Given the description of an element on the screen output the (x, y) to click on. 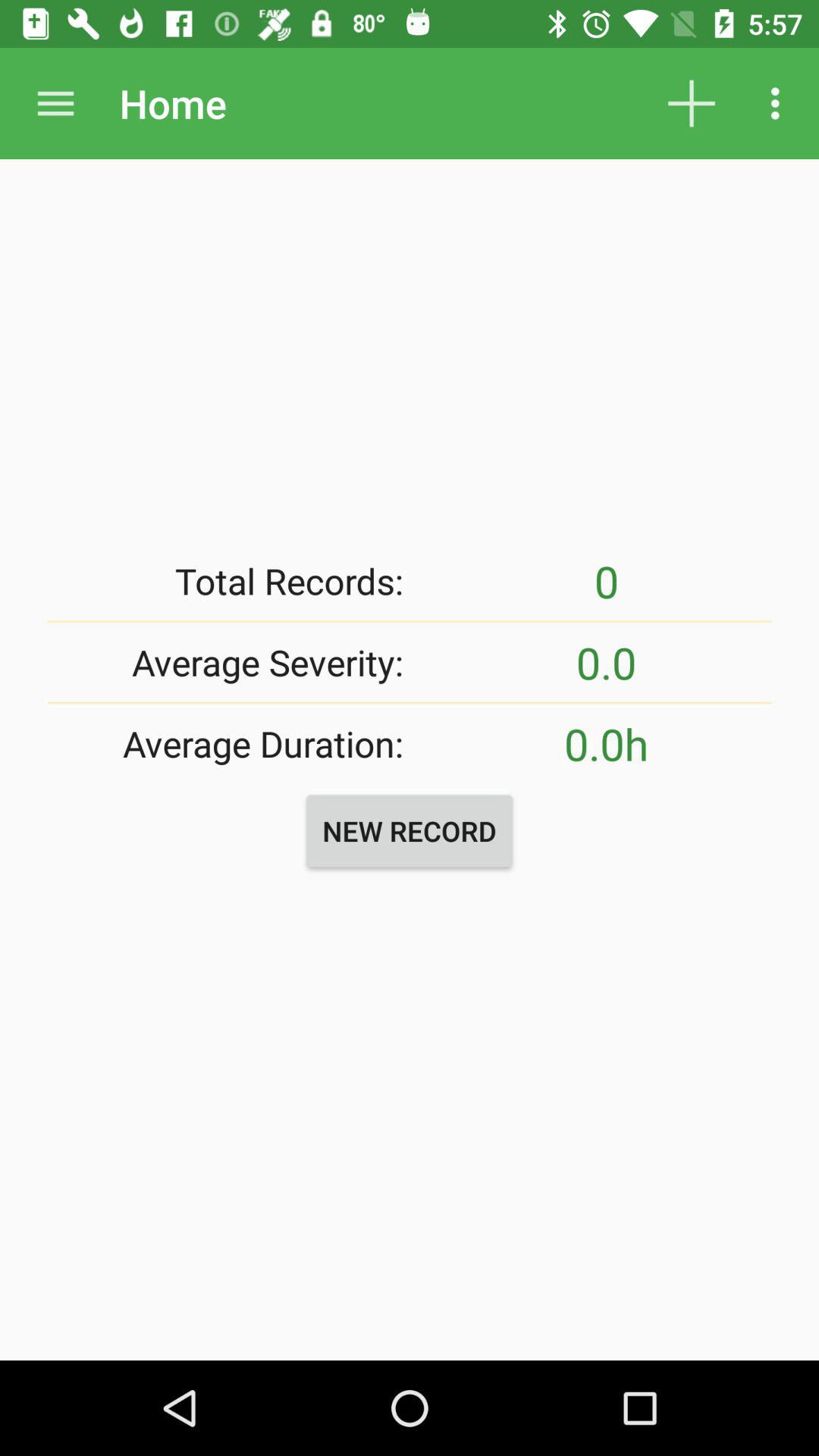
open the icon to the left of the home (55, 103)
